Given the description of an element on the screen output the (x, y) to click on. 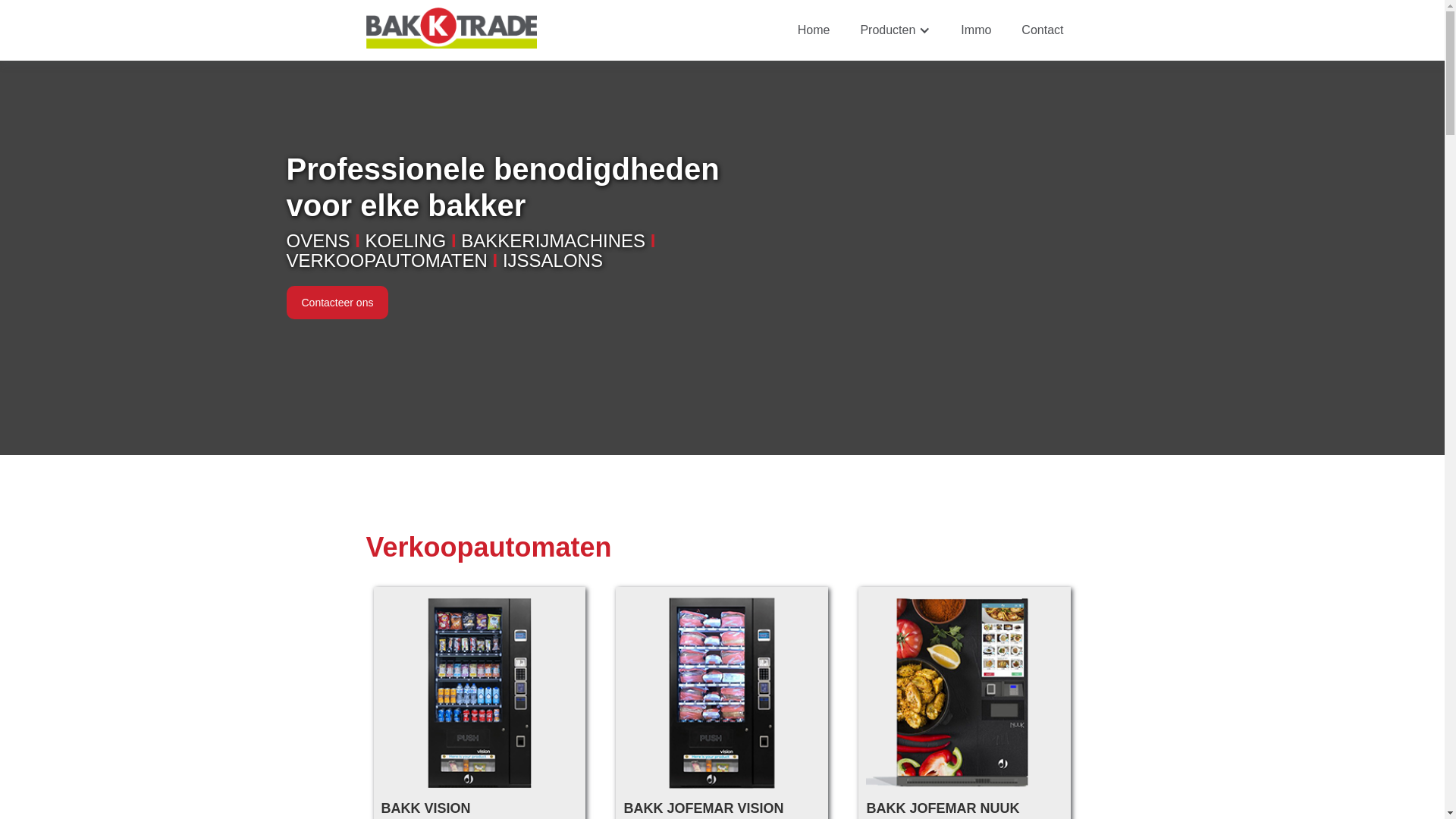
Contacteer ons Element type: text (337, 330)
Home Element type: text (813, 30)
Immo Element type: text (975, 30)
Contact Element type: text (1042, 30)
